Given the description of an element on the screen output the (x, y) to click on. 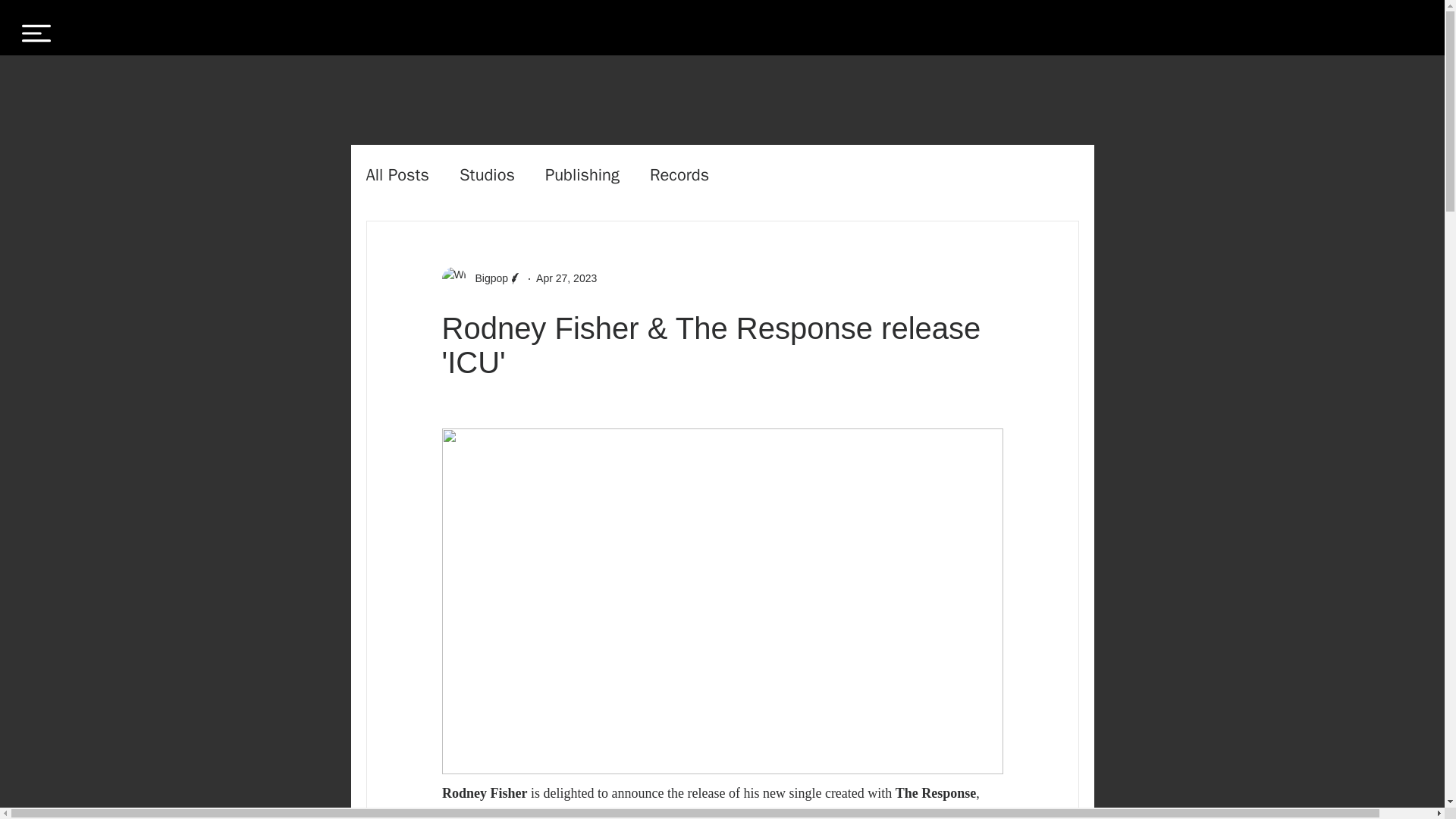
Apr 27, 2023 (565, 277)
Bigpop (486, 278)
Studios (487, 174)
Publishing (582, 174)
Bigpop (481, 278)
Records (679, 174)
All Posts (397, 174)
